Given the description of an element on the screen output the (x, y) to click on. 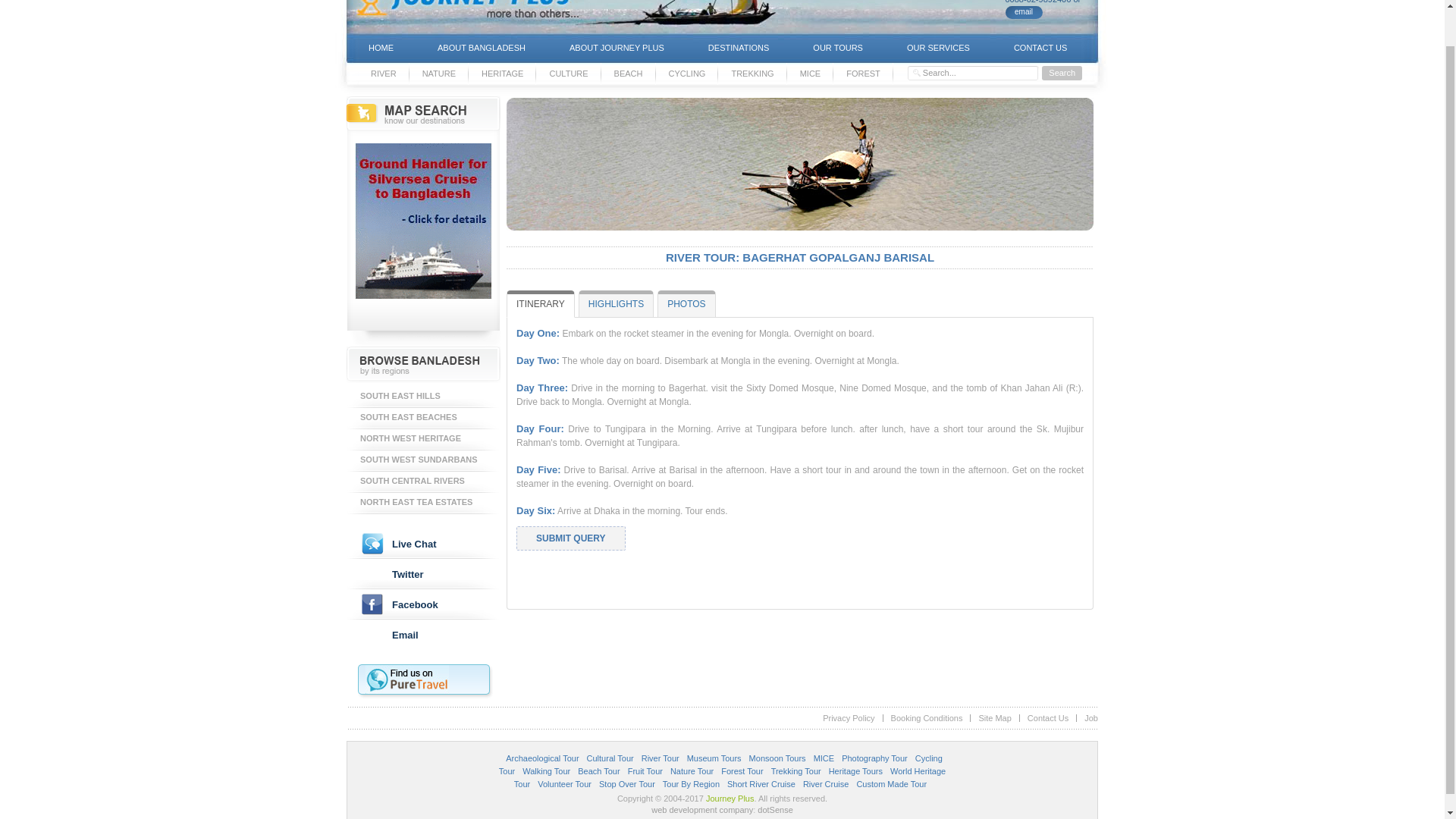
OUR TOURS (837, 48)
RIVER (383, 74)
Heritegous North West (423, 439)
Contact to JourneyPlus (1024, 11)
CONTACT US (1040, 48)
River and Greenery of the Central South (423, 482)
DESTINATIONS (737, 48)
Beauty of the South West (423, 460)
Tea Estates of the North East (423, 503)
Journey Plus Facebook (423, 603)
